Given the description of an element on the screen output the (x, y) to click on. 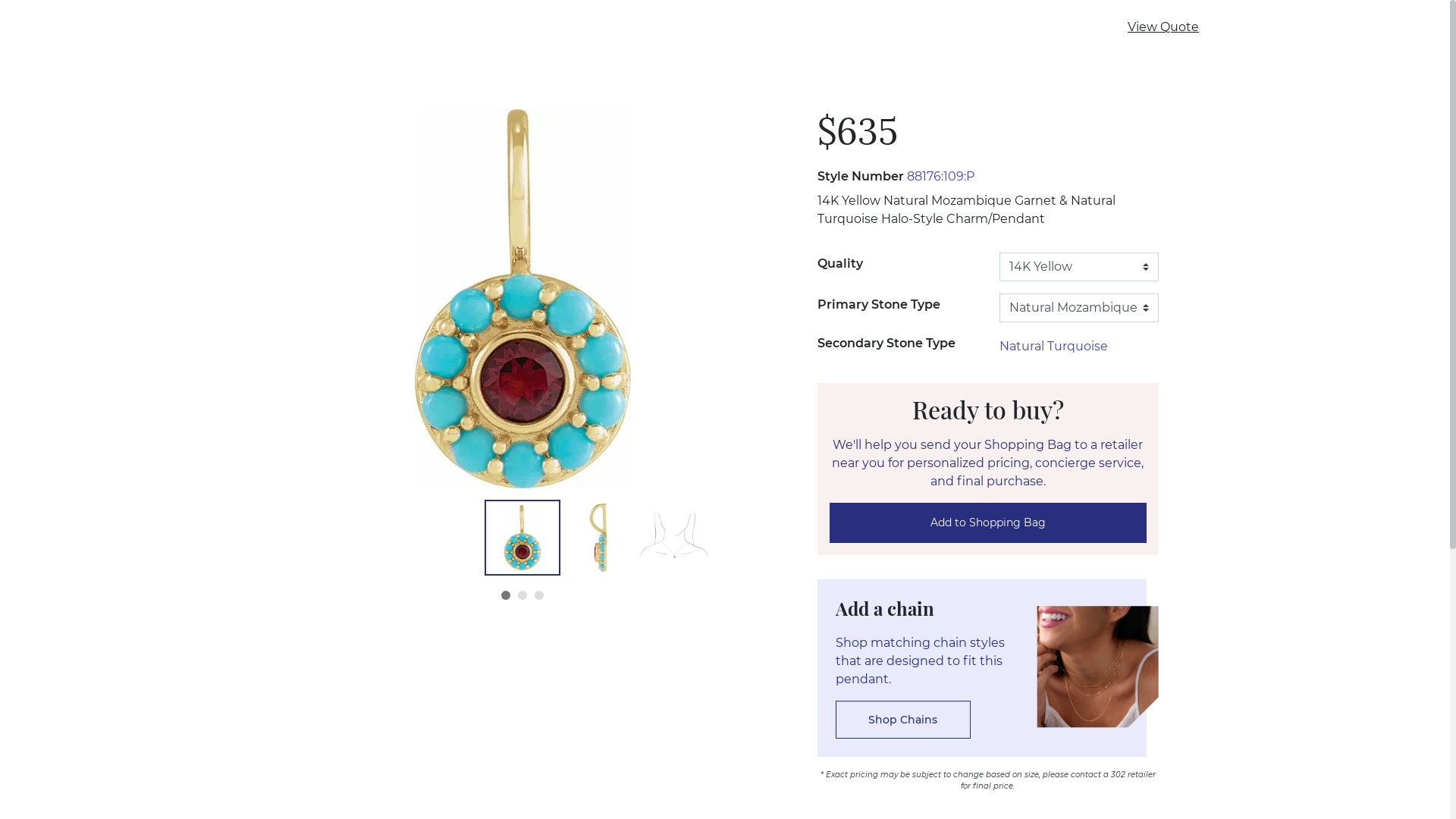
View Quote Element type: text (1162, 26)
1 Element type: text (505, 594)
Shop Chains Element type: text (902, 719)
3 Element type: text (538, 594)
2 Element type: text (522, 594)
Add to Shopping Bag Element type: text (987, 522)
Shop Chains Element type: text (902, 718)
